Given the description of an element on the screen output the (x, y) to click on. 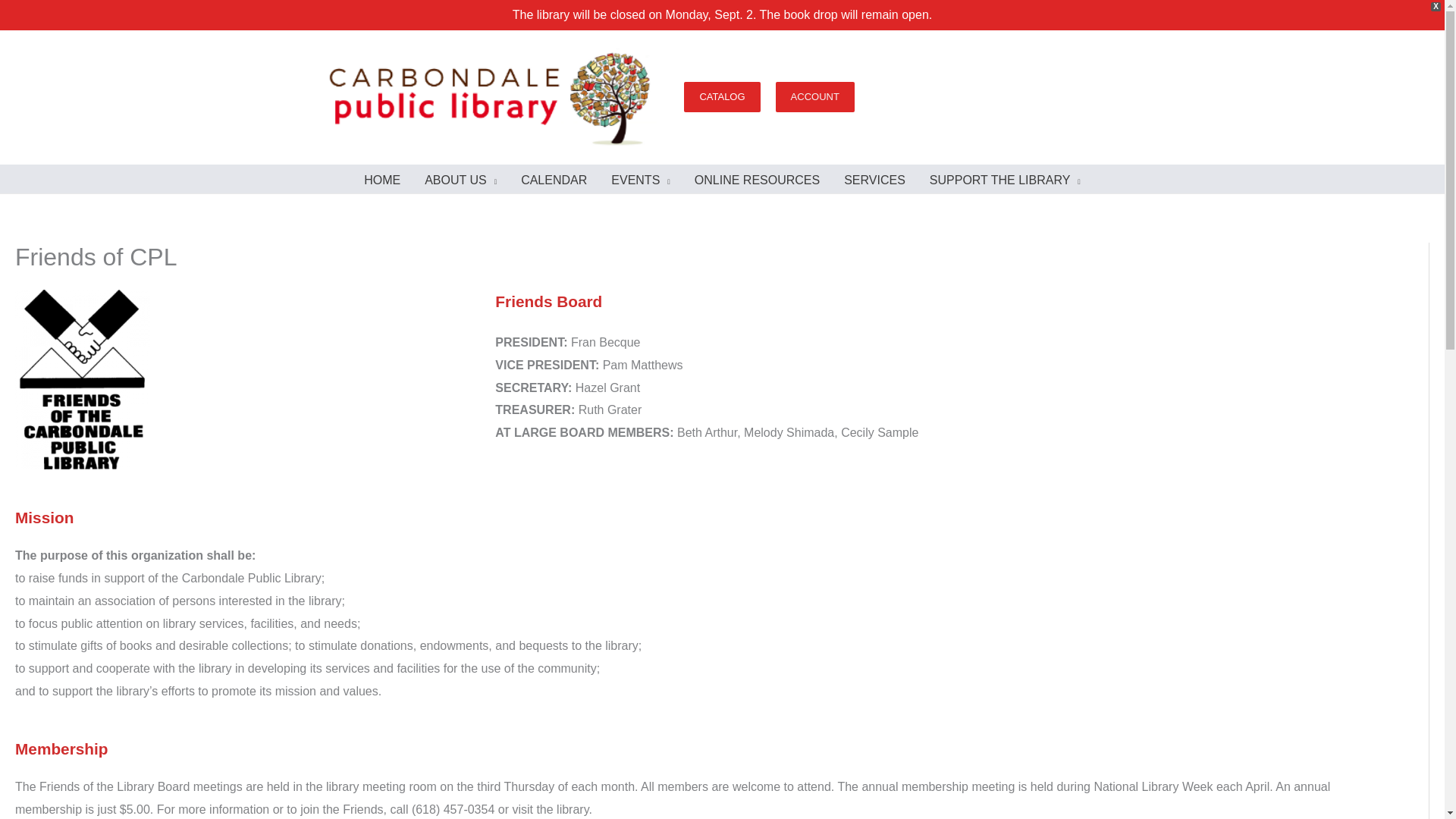
ACCOUNT (815, 96)
EVENTS (640, 180)
SUPPORT THE LIBRARY (1005, 180)
ABOUT US (460, 180)
CATALOG (722, 96)
CALENDAR (553, 180)
SERVICES (874, 180)
HOME (382, 180)
ONLINE RESOURCES (756, 180)
